Given the description of an element on the screen output the (x, y) to click on. 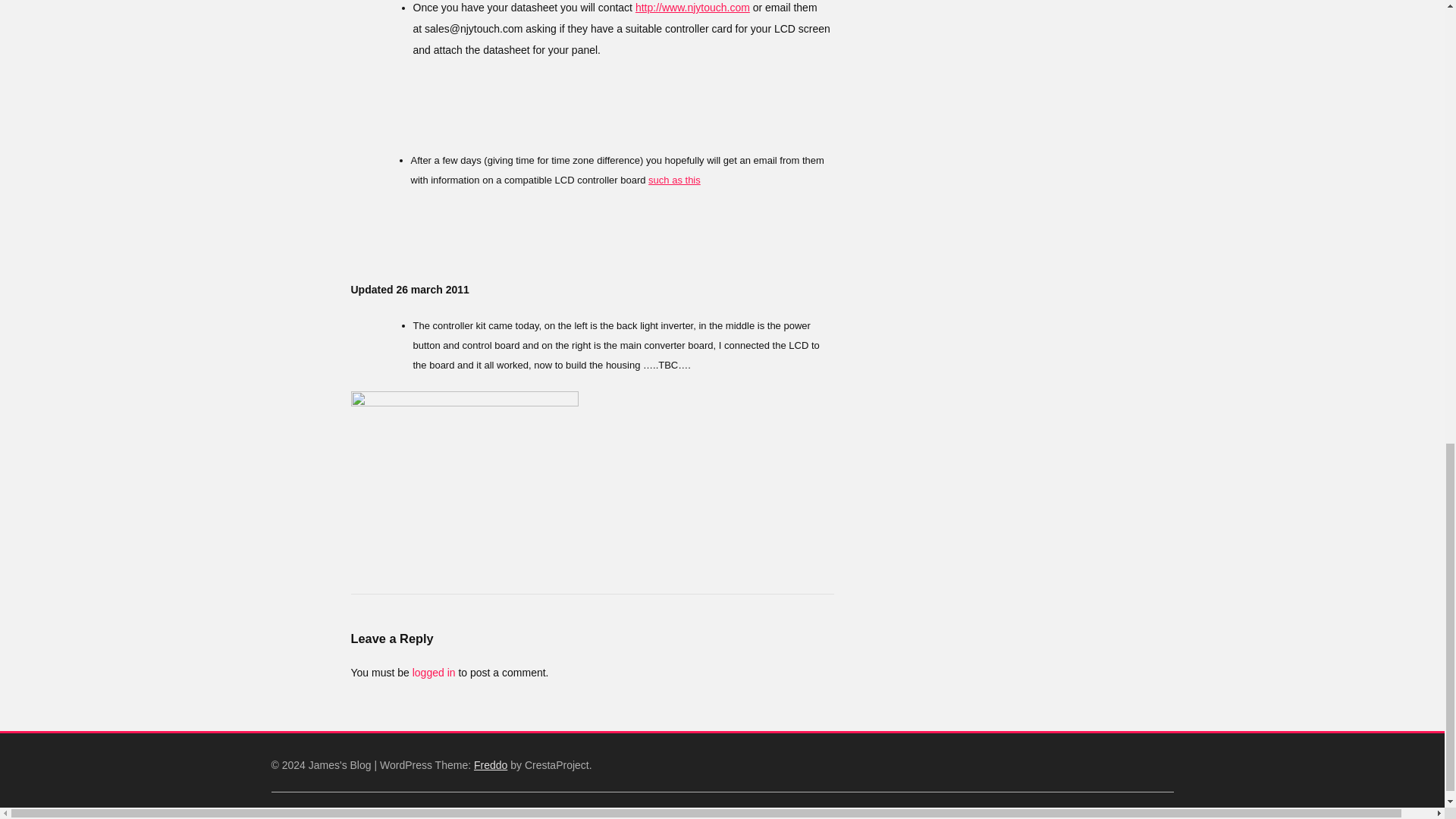
such as this (673, 179)
logged in (433, 672)
Freddo (490, 765)
LCD controller (464, 476)
Freddo Theme (490, 765)
